Given the description of an element on the screen output the (x, y) to click on. 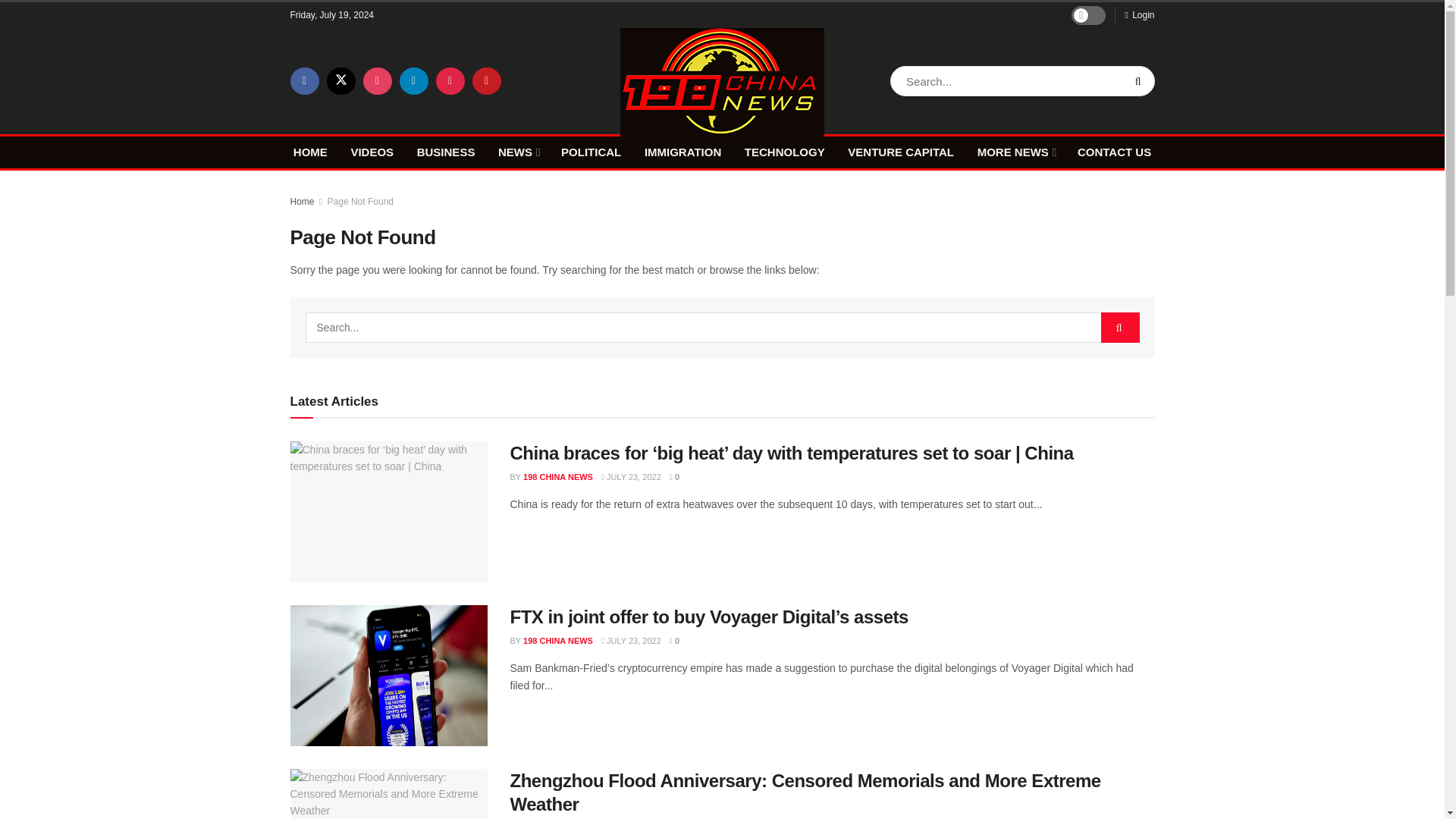
IMMIGRATION (682, 151)
POLITICAL (590, 151)
VENTURE CAPITAL (900, 151)
NEWS (517, 151)
MORE NEWS (1015, 151)
Login (1139, 14)
CONTACT US (1114, 151)
BUSINESS (446, 151)
TECHNOLOGY (784, 151)
HOME (310, 151)
VIDEOS (371, 151)
